Given the description of an element on the screen output the (x, y) to click on. 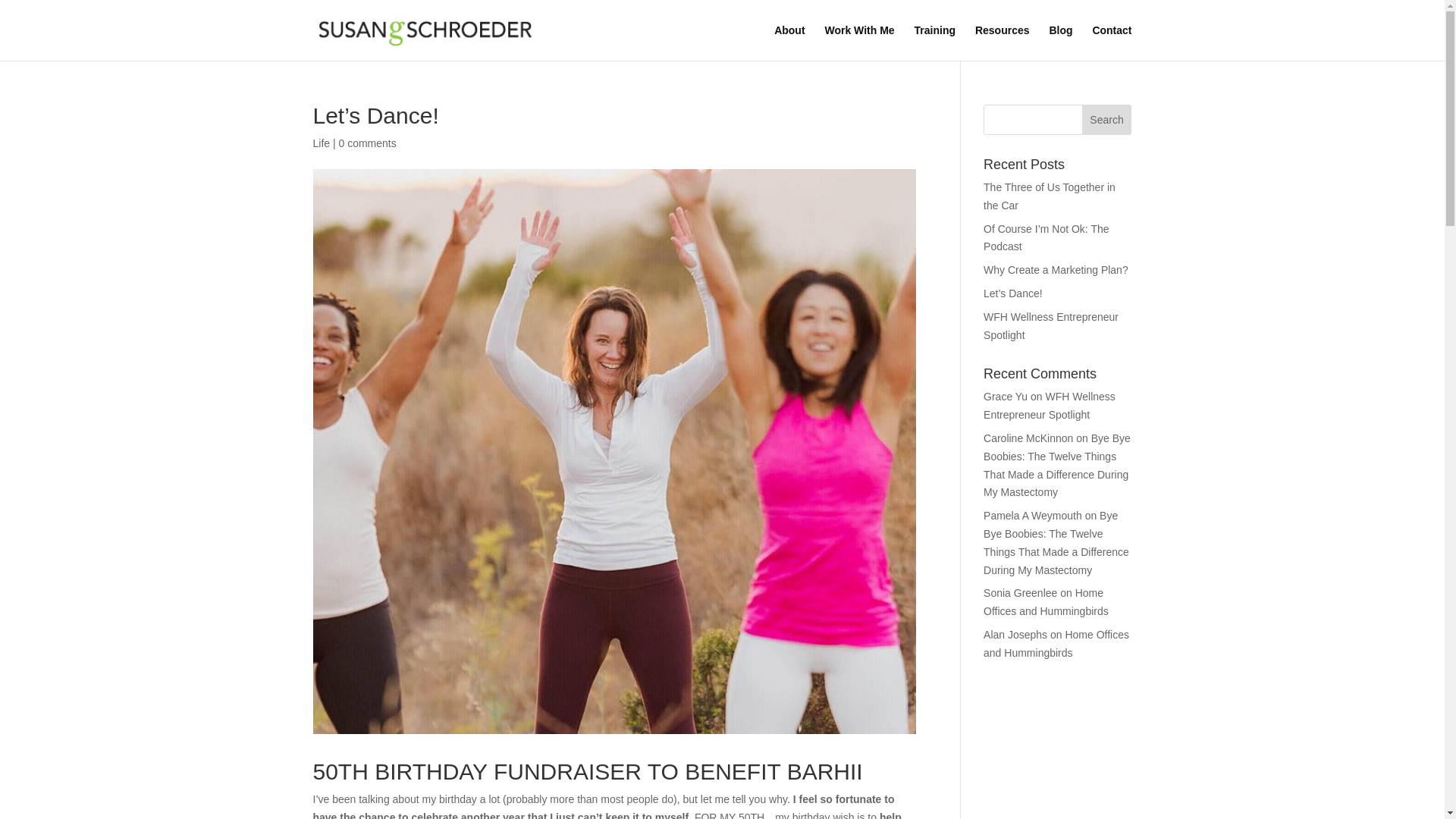
WFH Wellness Entrepreneur Spotlight (1051, 326)
0 comments (366, 143)
WFH Wellness Entrepreneur Spotlight (1049, 405)
Pamela A Weymouth (1032, 515)
Resources (1002, 42)
Grace Yu (1005, 396)
Why Create a Marketing Plan? (1056, 269)
Home Offices and Hummingbirds (1056, 643)
Home Offices and Hummingbirds (1046, 602)
Life (321, 143)
The Three of Us Together in the Car (1049, 195)
Work With Me (858, 42)
Search (1106, 119)
